Given the description of an element on the screen output the (x, y) to click on. 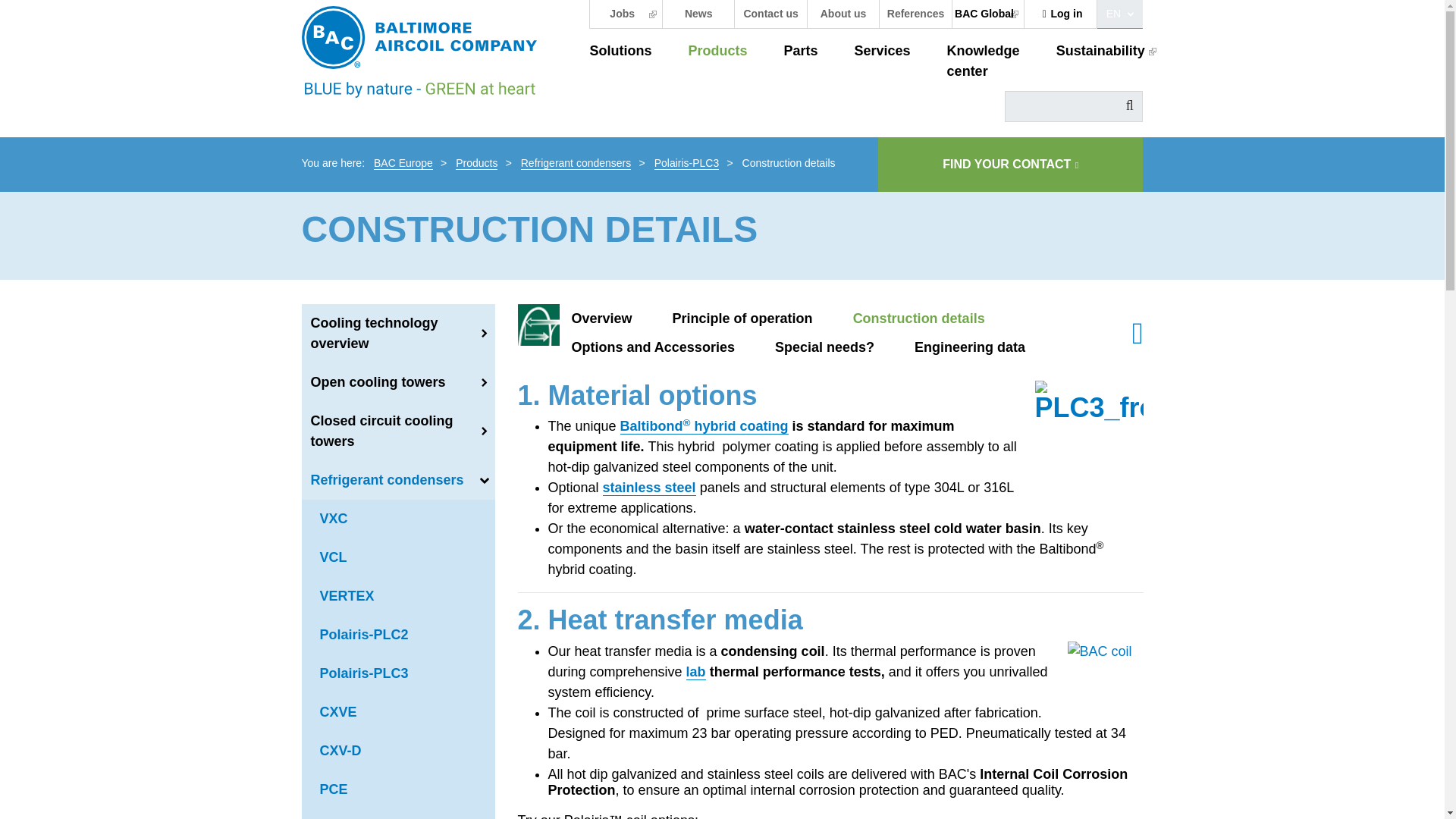
BAC Global (987, 14)
VERTEX (398, 596)
References (914, 14)
Products (476, 162)
Cooling technology overview (398, 333)
Polairis-PLC3 (398, 673)
Products (716, 50)
Polairis-PLC2 (398, 634)
Knowledge centre (983, 60)
References (914, 14)
Open Circuit Cooling Towers (398, 382)
VXC (398, 518)
Solutions (619, 50)
Solutions (619, 50)
Closed circuit cooling towers (398, 431)
